Given the description of an element on the screen output the (x, y) to click on. 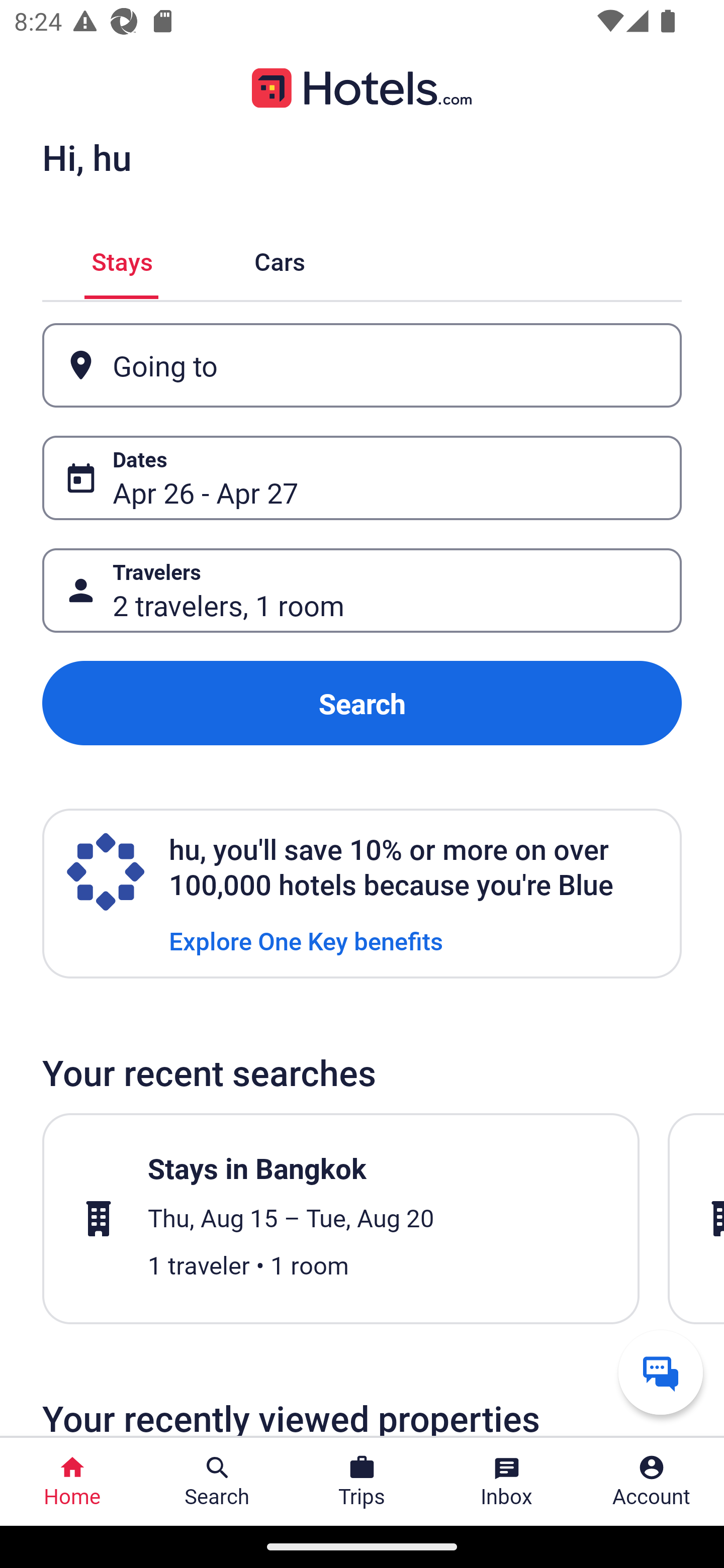
Hi, hu (86, 156)
Cars (279, 259)
Going to Button (361, 365)
Dates Button Apr 26 - Apr 27 (361, 477)
Travelers Button 2 travelers, 1 room (361, 590)
Search (361, 702)
Get help from a virtual agent (660, 1371)
Search Search Button (216, 1481)
Trips Trips Button (361, 1481)
Inbox Inbox Button (506, 1481)
Account Profile. Button (651, 1481)
